Given the description of an element on the screen output the (x, y) to click on. 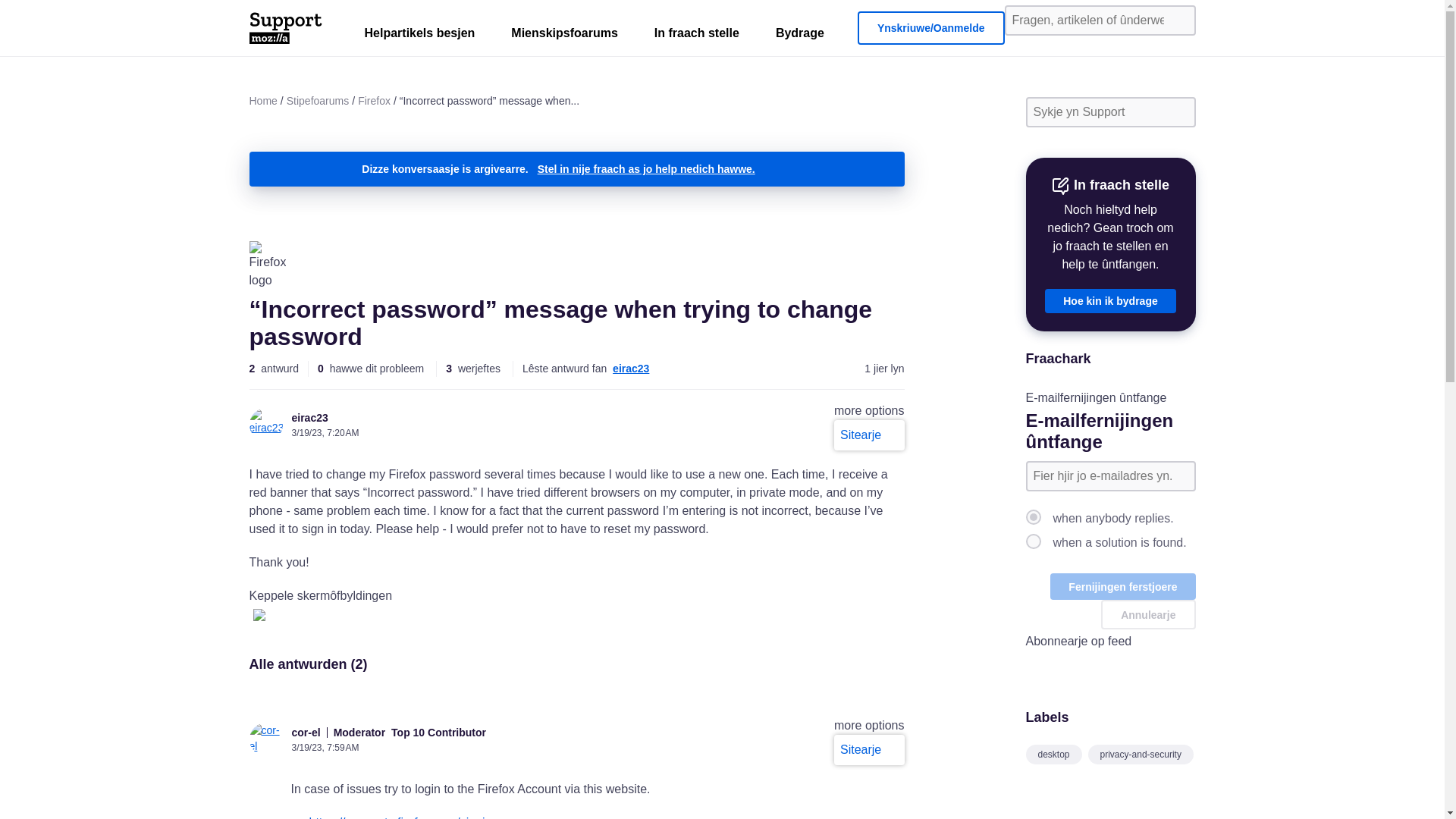
In fraach stelle (696, 37)
Mienskipsfoarums (563, 37)
Fernijingen ferstjoere (1122, 586)
Sykje (1178, 20)
Helpartikels besjen (419, 37)
Sykje (1178, 111)
